Given the description of an element on the screen output the (x, y) to click on. 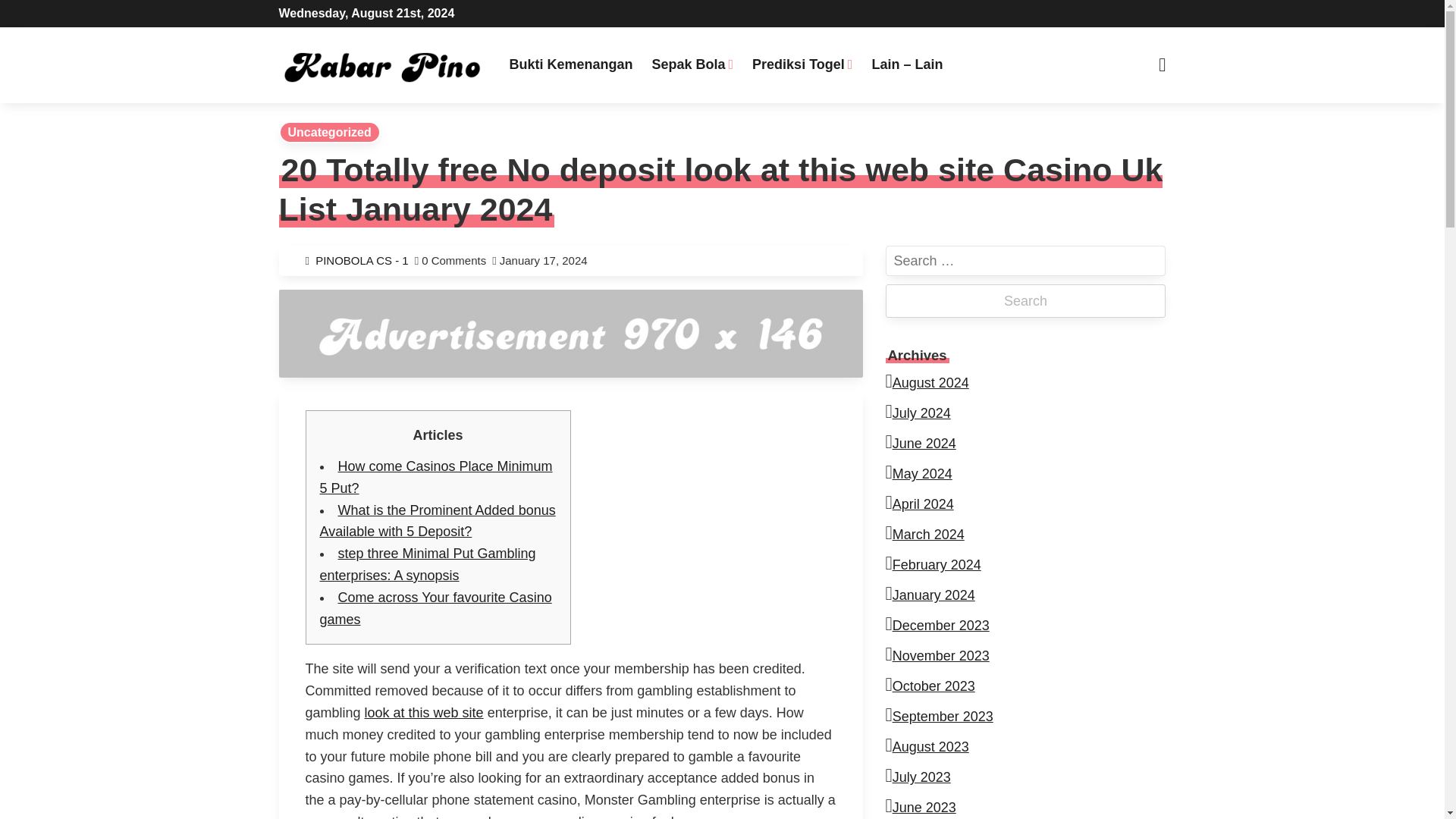
Search (455, 16)
Search (1025, 300)
Uncategorized (329, 132)
Search (1025, 300)
View all posts in Uncategorized (329, 132)
PINOBOLA CS - 1 (364, 259)
Prediksi Togel (802, 64)
Bukti Kemenangan (570, 64)
step three Minimal Put Gambling enterprises: A synopsis (427, 564)
Sepak Bola (692, 64)
